Given the description of an element on the screen output the (x, y) to click on. 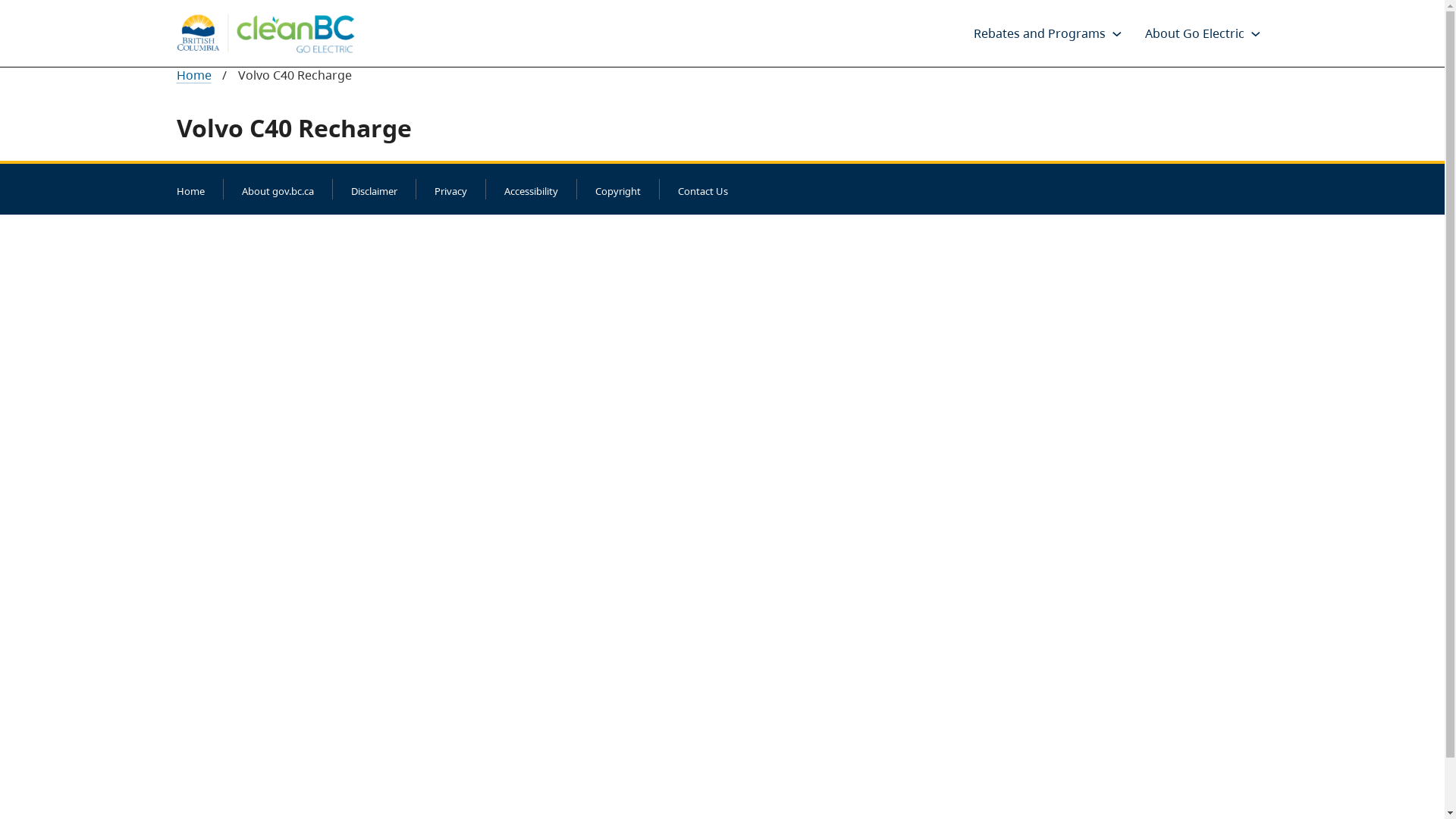
Privacy Element type: text (449, 190)
Home Element type: text (189, 190)
Accessibility Element type: text (530, 190)
Disclaimer Element type: text (373, 190)
Rebates and Programs Element type: text (1037, 33)
Home Element type: text (192, 74)
About gov.bc.ca Element type: text (277, 190)
Copyright Element type: text (617, 190)
About Go Electric Element type: text (1192, 33)
Contact Us Element type: text (702, 190)
